Given the description of an element on the screen output the (x, y) to click on. 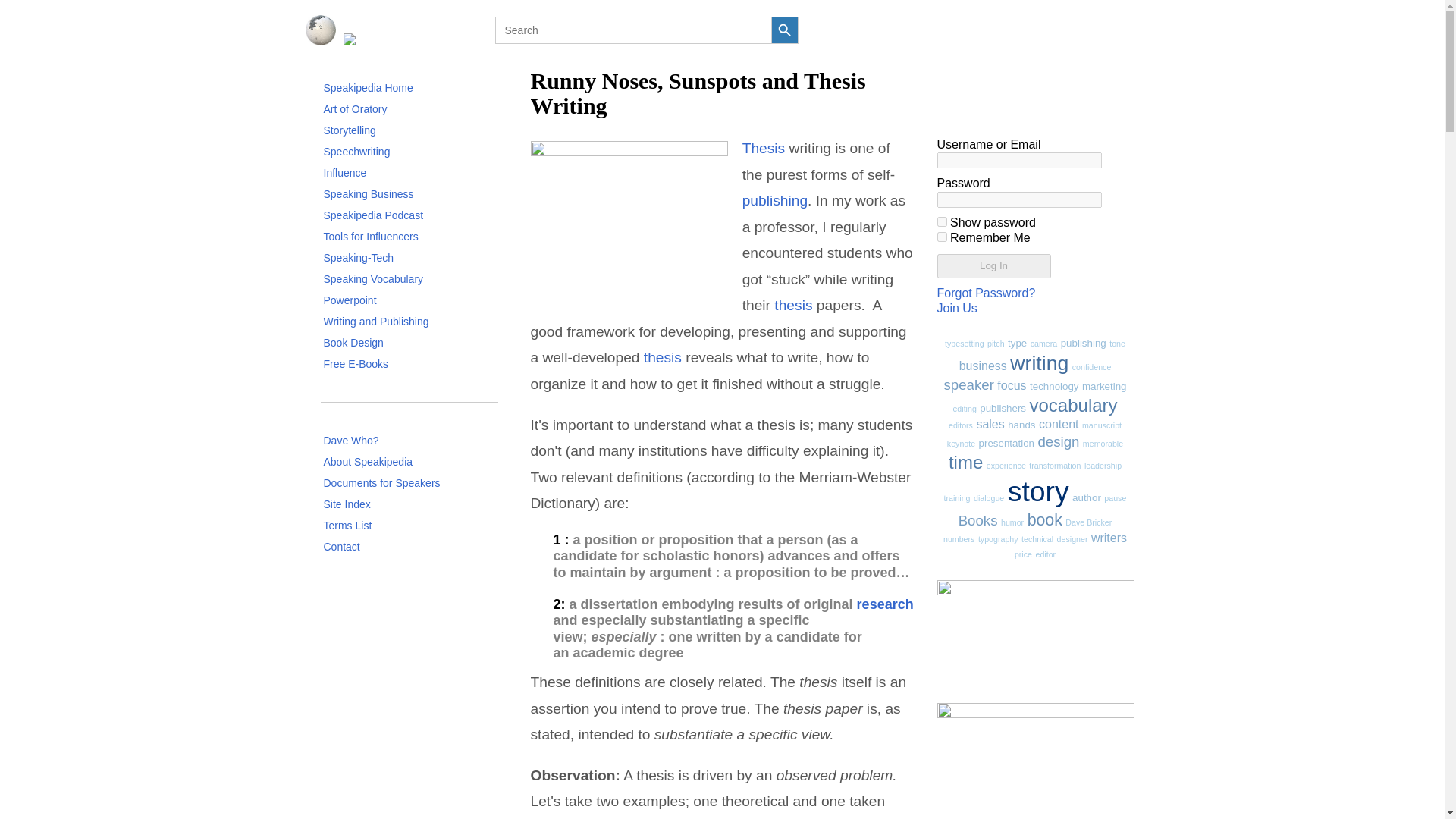
NotebookFountainPen (629, 218)
Posts tagged with publishing (775, 200)
Posts tagged with thesis (764, 148)
Log In (994, 265)
Posts tagged with thesis (662, 357)
on (942, 221)
Posts tagged with thesis (793, 304)
Posts tagged with research (885, 604)
on (942, 236)
